Given the description of an element on the screen output the (x, y) to click on. 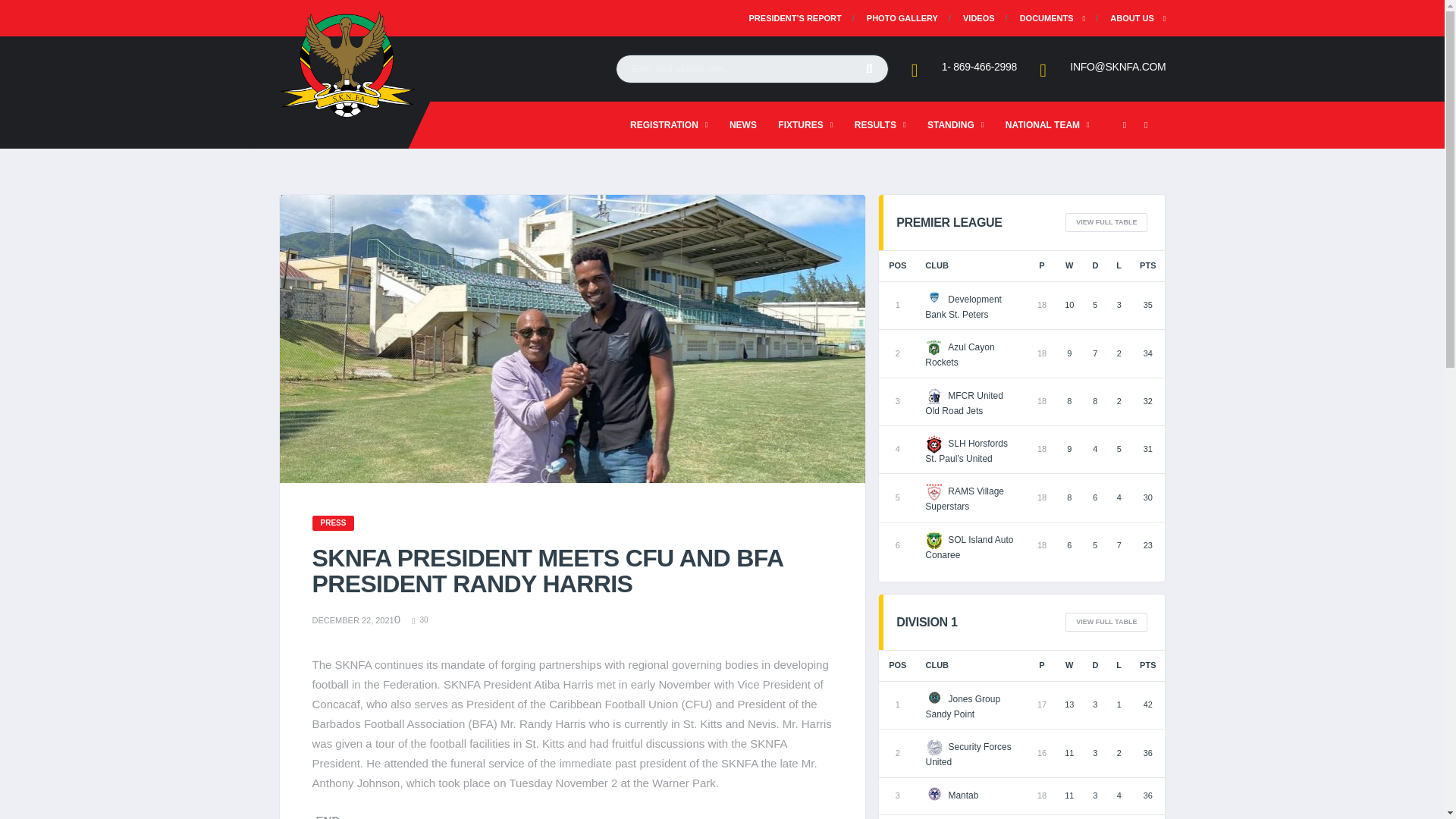
FIXTURES (805, 124)
PHOTO GALLERY (901, 18)
NATIONAL TEAM (1047, 124)
DOCUMENTS (1047, 18)
RESULTS (880, 124)
ABOUT US (1131, 18)
STANDING (955, 124)
Like (420, 619)
